Given the description of an element on the screen output the (x, y) to click on. 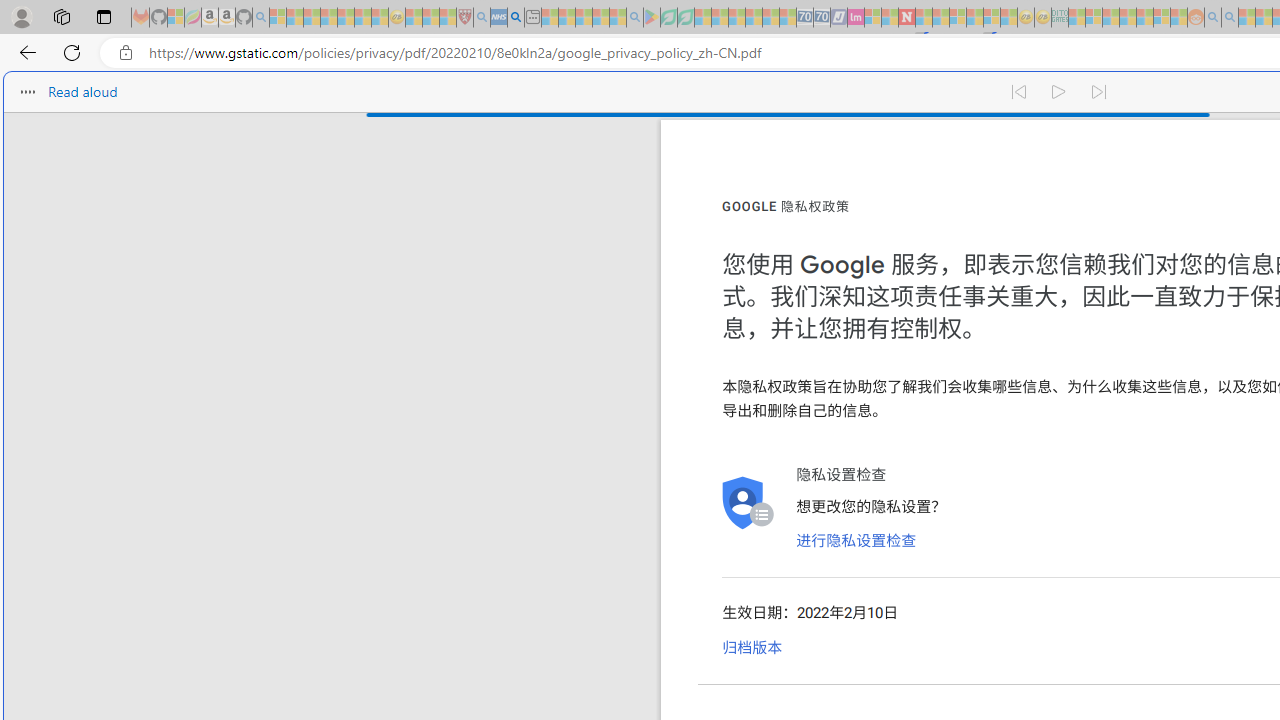
Pets - MSN - Sleeping (600, 17)
